Given the description of an element on the screen output the (x, y) to click on. 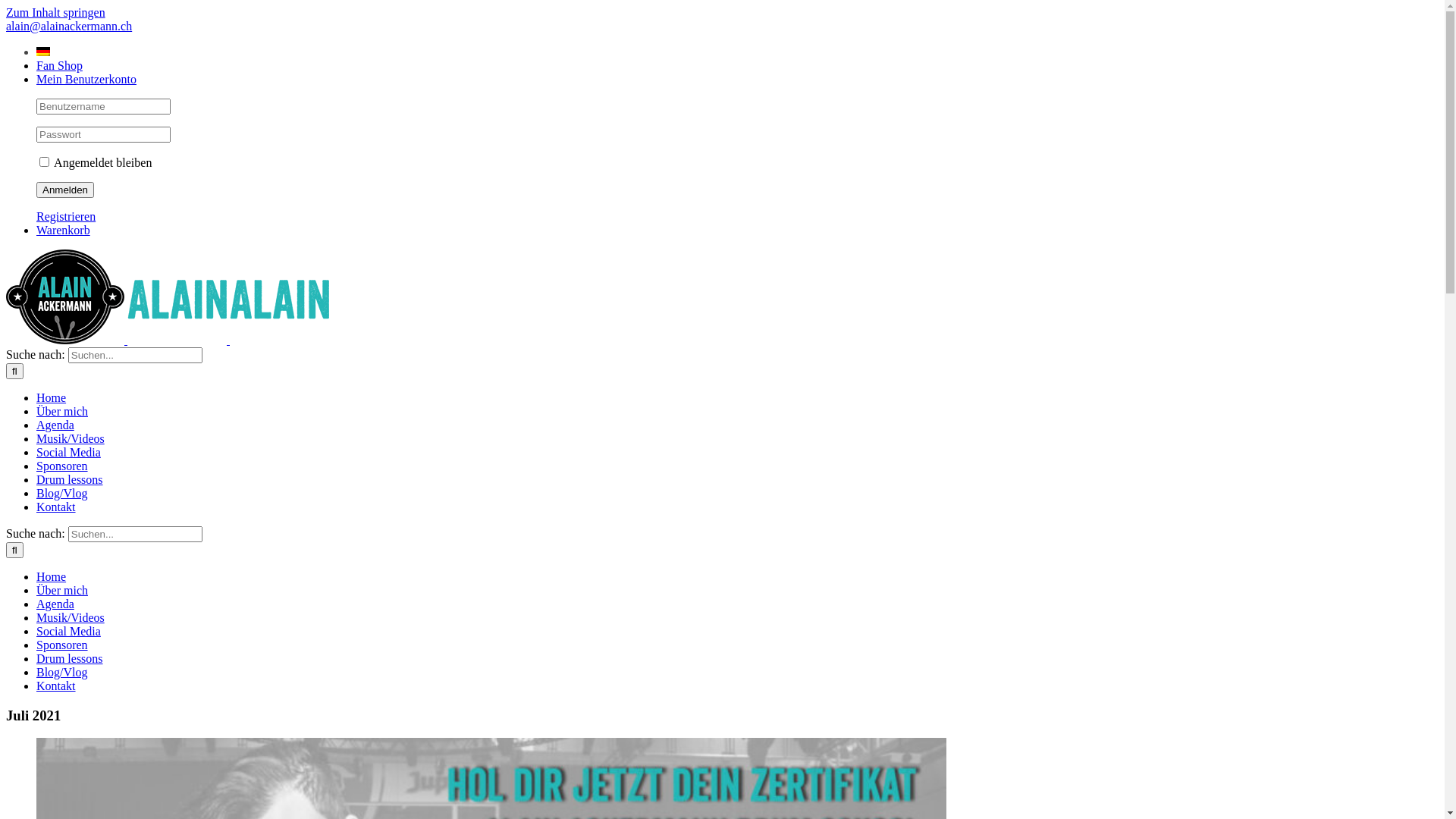
Agenda Element type: text (55, 424)
alain@alainackermann.ch Element type: text (68, 25)
Blog/Vlog Element type: text (61, 671)
Anmelden Element type: text (65, 189)
Home Element type: text (50, 576)
Sponsoren Element type: text (61, 644)
Kontakt Element type: text (55, 506)
Fan Shop Element type: text (59, 65)
Social Media Element type: text (68, 451)
Drum lessons Element type: text (69, 479)
Sponsoren Element type: text (61, 465)
Home Element type: text (50, 397)
Zum Inhalt springen Element type: text (55, 12)
Mein Benutzerkonto Element type: text (86, 78)
Musik/Videos Element type: text (70, 617)
Drum lessons Element type: text (69, 658)
Social Media Element type: text (68, 630)
Blog/Vlog Element type: text (61, 492)
Registrieren Element type: text (65, 216)
Kontakt Element type: text (55, 685)
Warenkorb Element type: text (63, 229)
Agenda Element type: text (55, 603)
Musik/Videos Element type: text (70, 438)
